Given the description of an element on the screen output the (x, y) to click on. 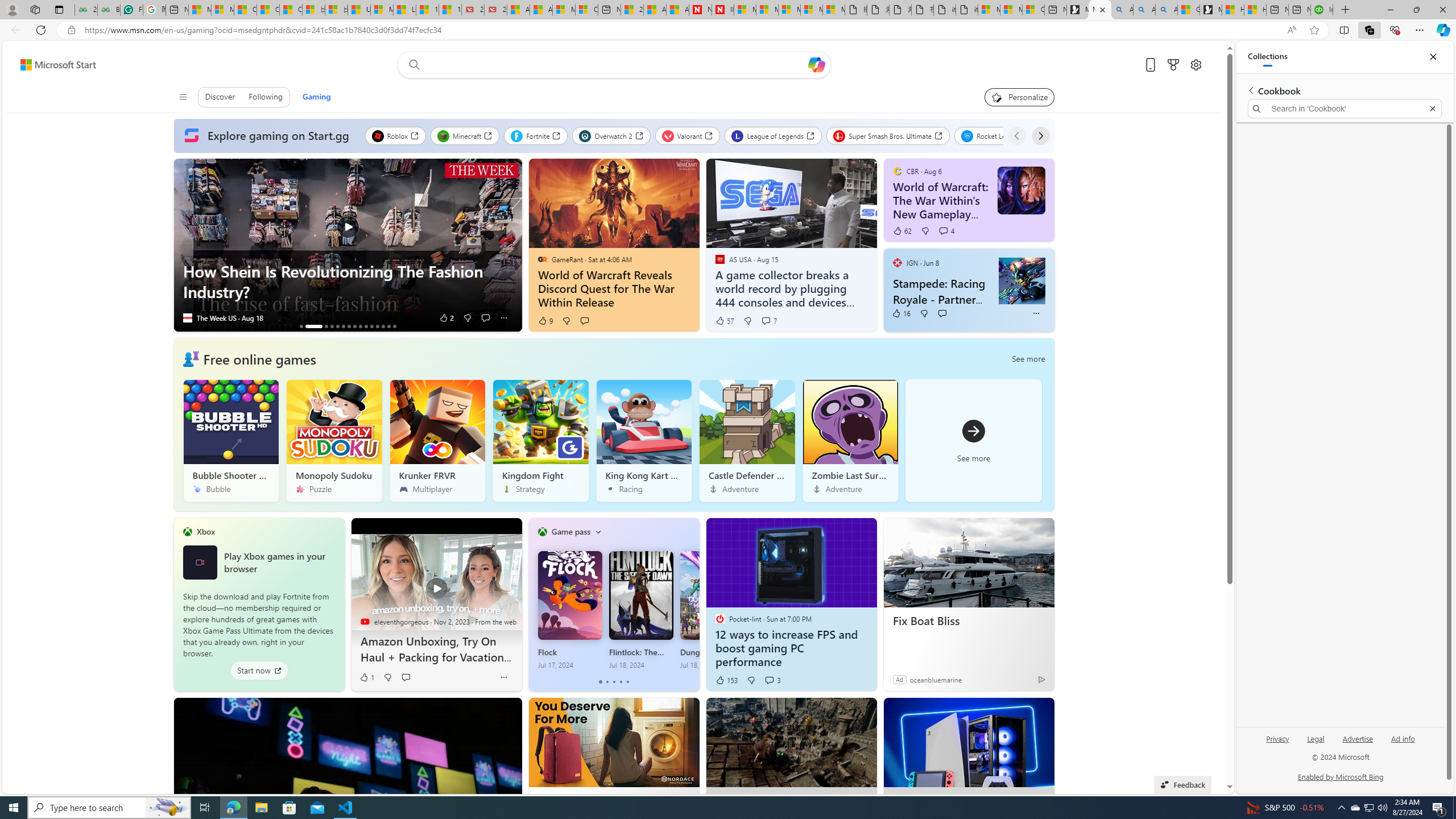
IGN (897, 261)
tab-3 (620, 682)
Xbox (205, 531)
15 Ways Modern Life Contradicts the Teachings of Jesus (449, 9)
Next slide (512, 245)
Fix Boat Bliss (968, 621)
View comments 7 Comment (769, 320)
Gaming (316, 97)
eleventhgorgeous (364, 621)
